Given the description of an element on the screen output the (x, y) to click on. 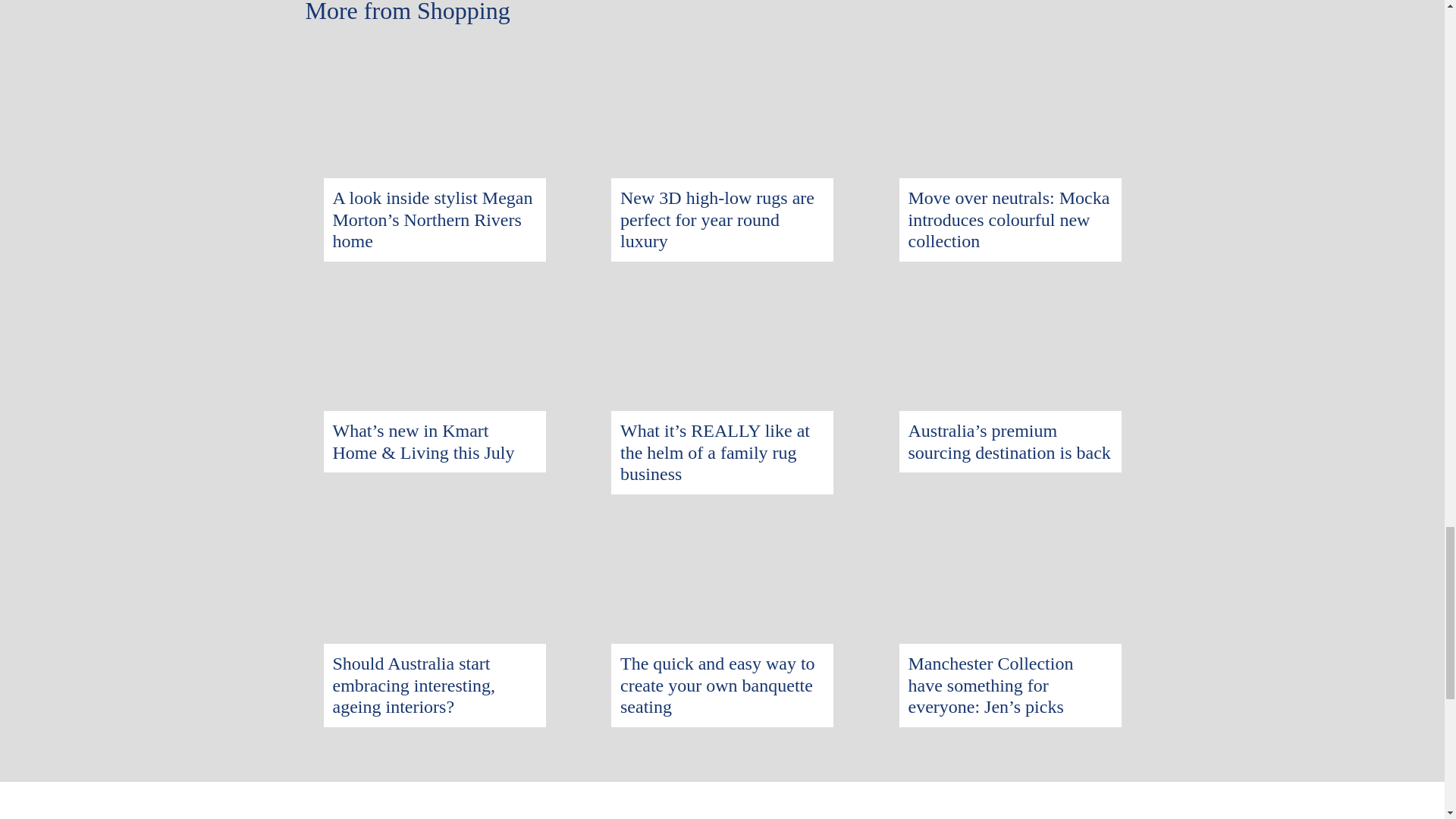
New 3D high-low rugs are perfect for year round luxury (716, 219)
New 3D high-low rugs are perfect for year round luxury (721, 55)
